Given the description of an element on the screen output the (x, y) to click on. 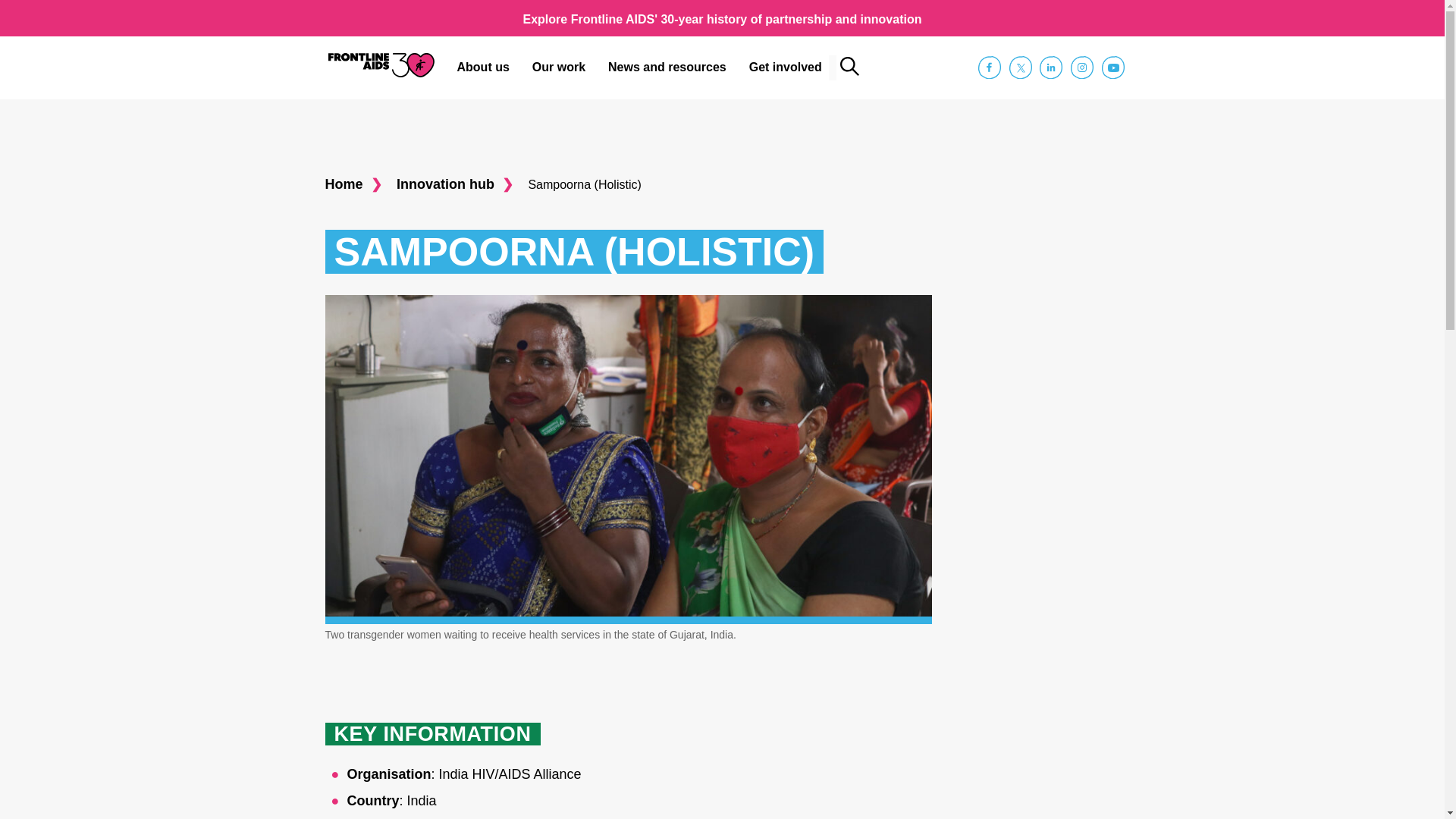
News and resources (667, 67)
Home (358, 183)
About us (483, 67)
Innovation hub (460, 183)
Our work (558, 67)
Search (849, 66)
Get involved (785, 67)
